Given the description of an element on the screen output the (x, y) to click on. 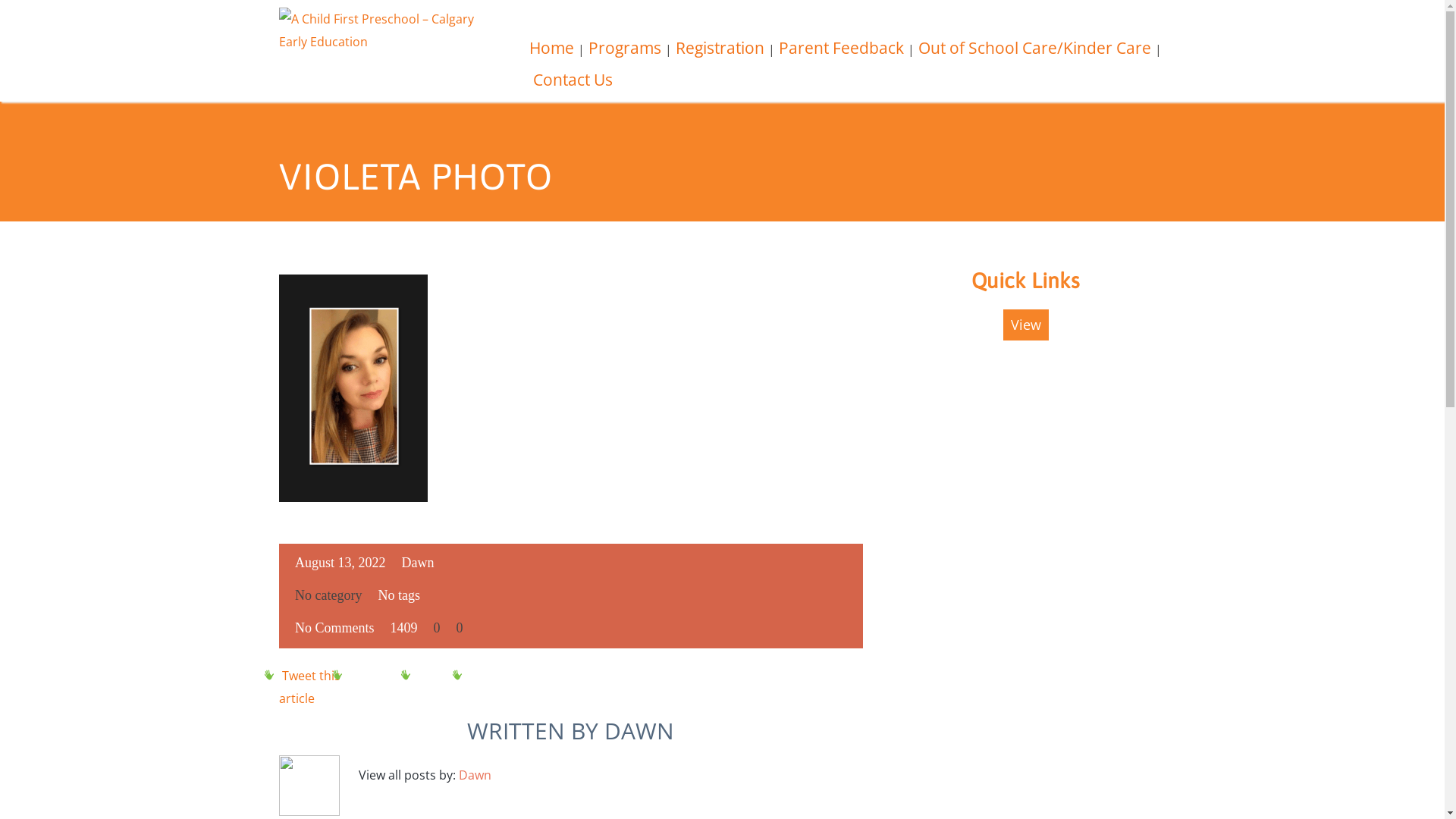
0 Element type: text (457, 627)
Parent Feedback Element type: text (840, 54)
DAWN Element type: text (639, 730)
No Comments Element type: text (334, 627)
0 Element type: text (434, 627)
Registration Element type: text (718, 54)
Programs Element type: text (624, 54)
Contact Us Element type: text (571, 86)
Home Element type: text (551, 54)
Dawn Element type: text (474, 774)
View Element type: text (1025, 325)
Out of School Care/Kinder Care Element type: text (1033, 54)
Tweet this article Element type: text (309, 686)
Dawn Element type: text (417, 562)
